Given the description of an element on the screen output the (x, y) to click on. 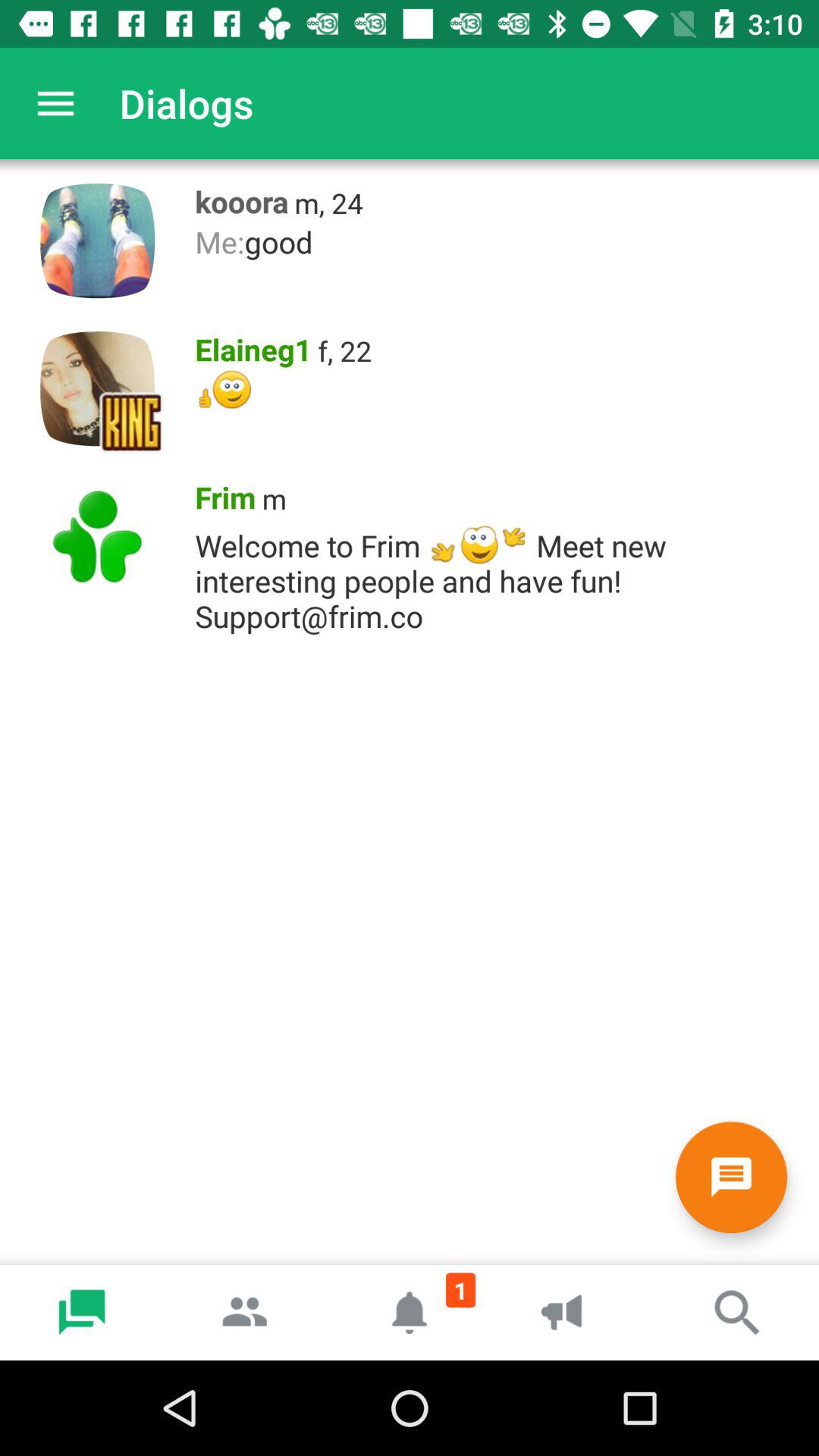
click the item below the kooora (499, 241)
